Given the description of an element on the screen output the (x, y) to click on. 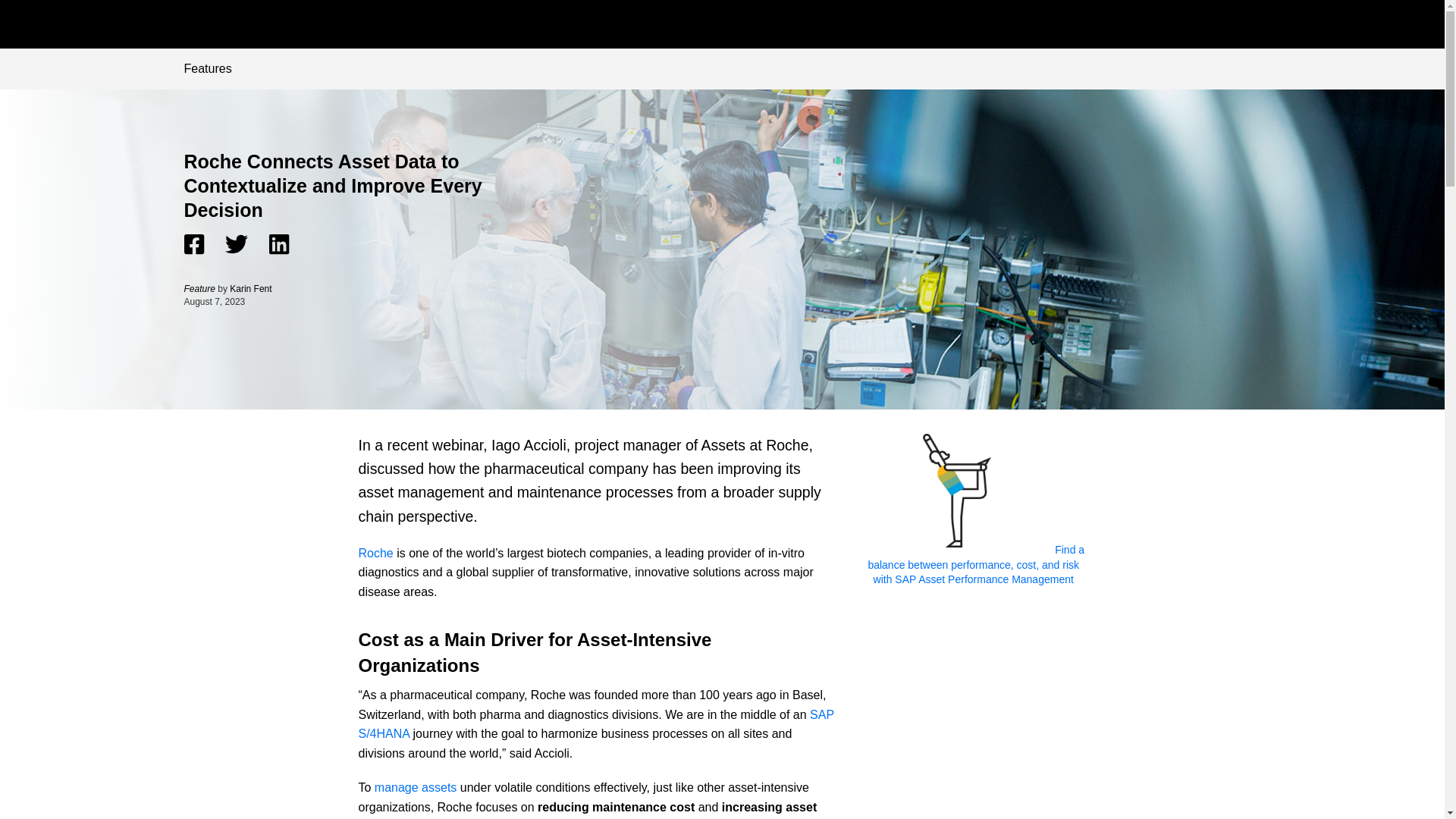
Posts by Karin Fent (250, 288)
manage assets (415, 787)
Roche (375, 553)
Features (207, 68)
Karin Fent (250, 288)
Features (207, 68)
Feature (199, 288)
